Given the description of an element on the screen output the (x, y) to click on. 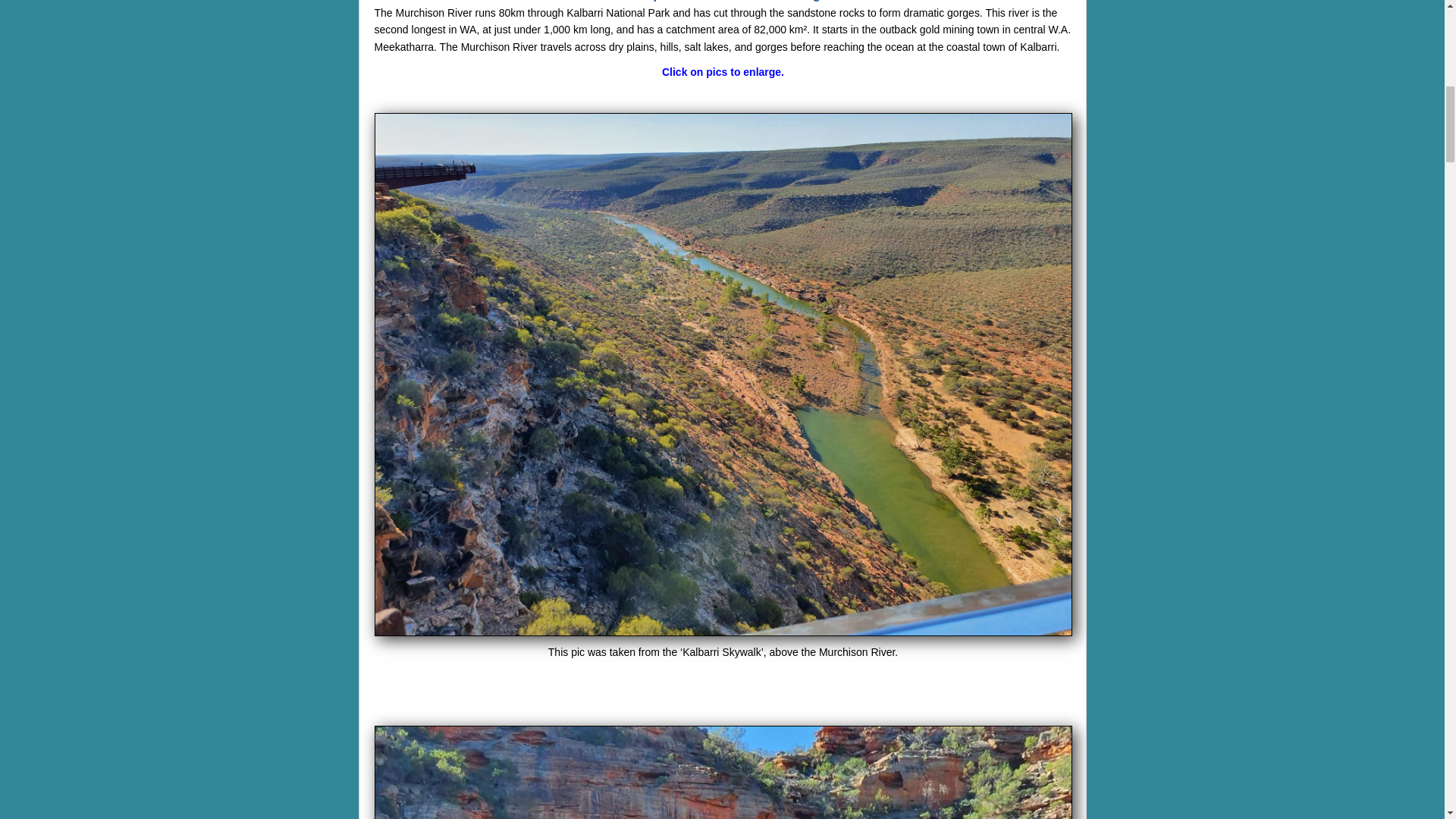
Murchison River gorge (722, 772)
